Given the description of an element on the screen output the (x, y) to click on. 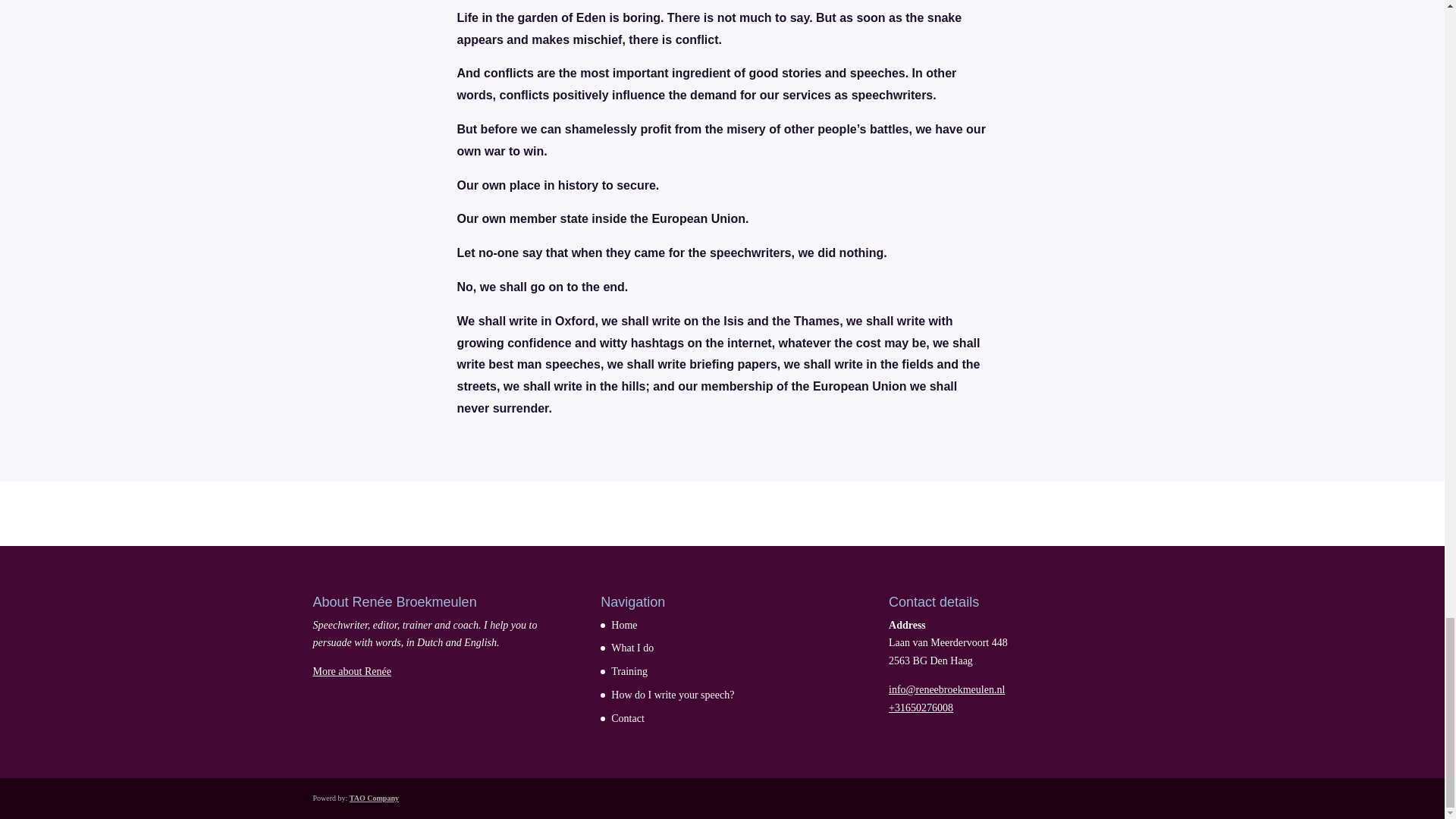
Contact (628, 717)
Home (624, 624)
How do I write your speech? (672, 695)
Training (629, 671)
What I do (632, 647)
TAO Company (373, 797)
